Given the description of an element on the screen output the (x, y) to click on. 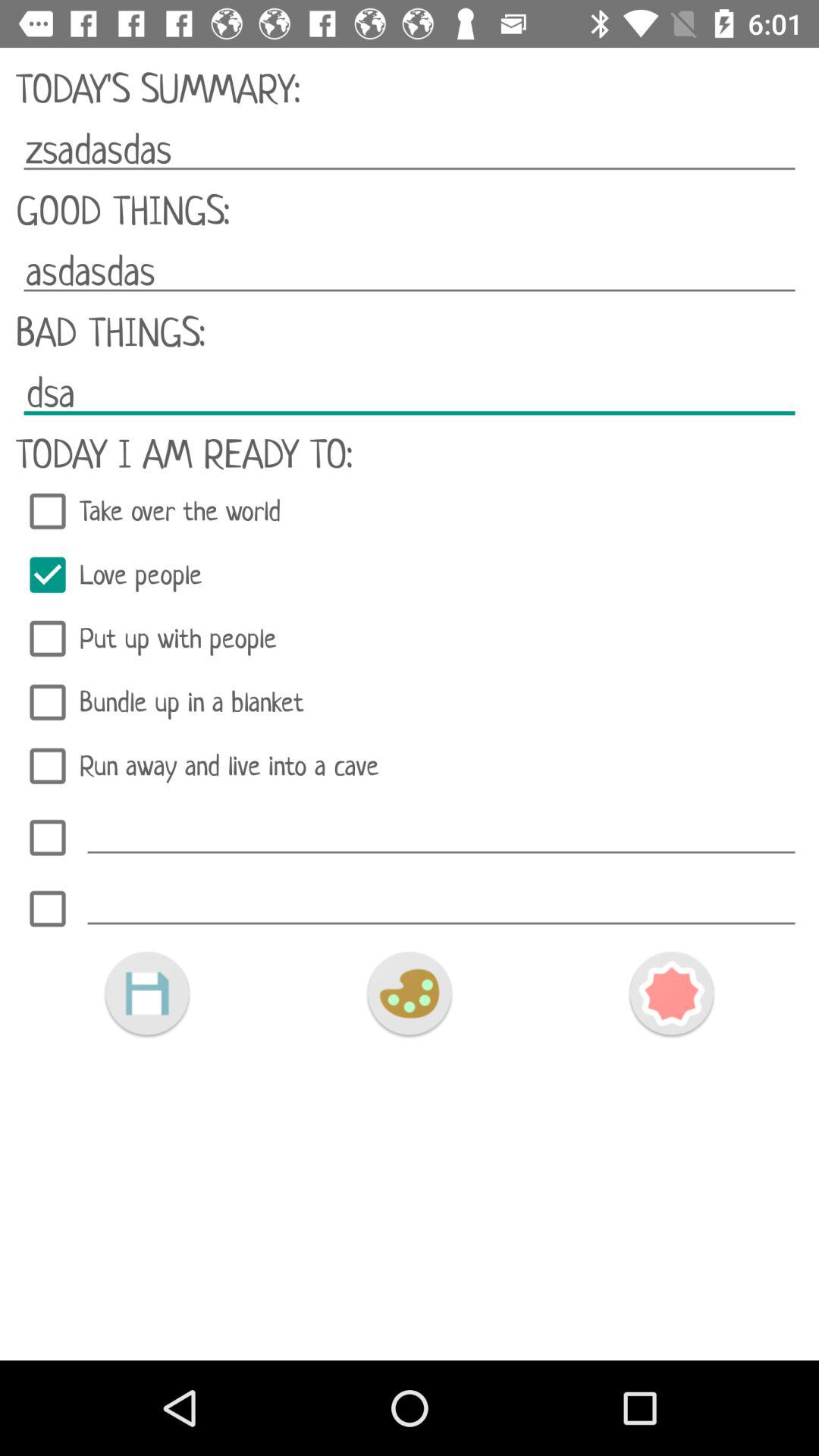
add to list (441, 904)
